Given the description of an element on the screen output the (x, y) to click on. 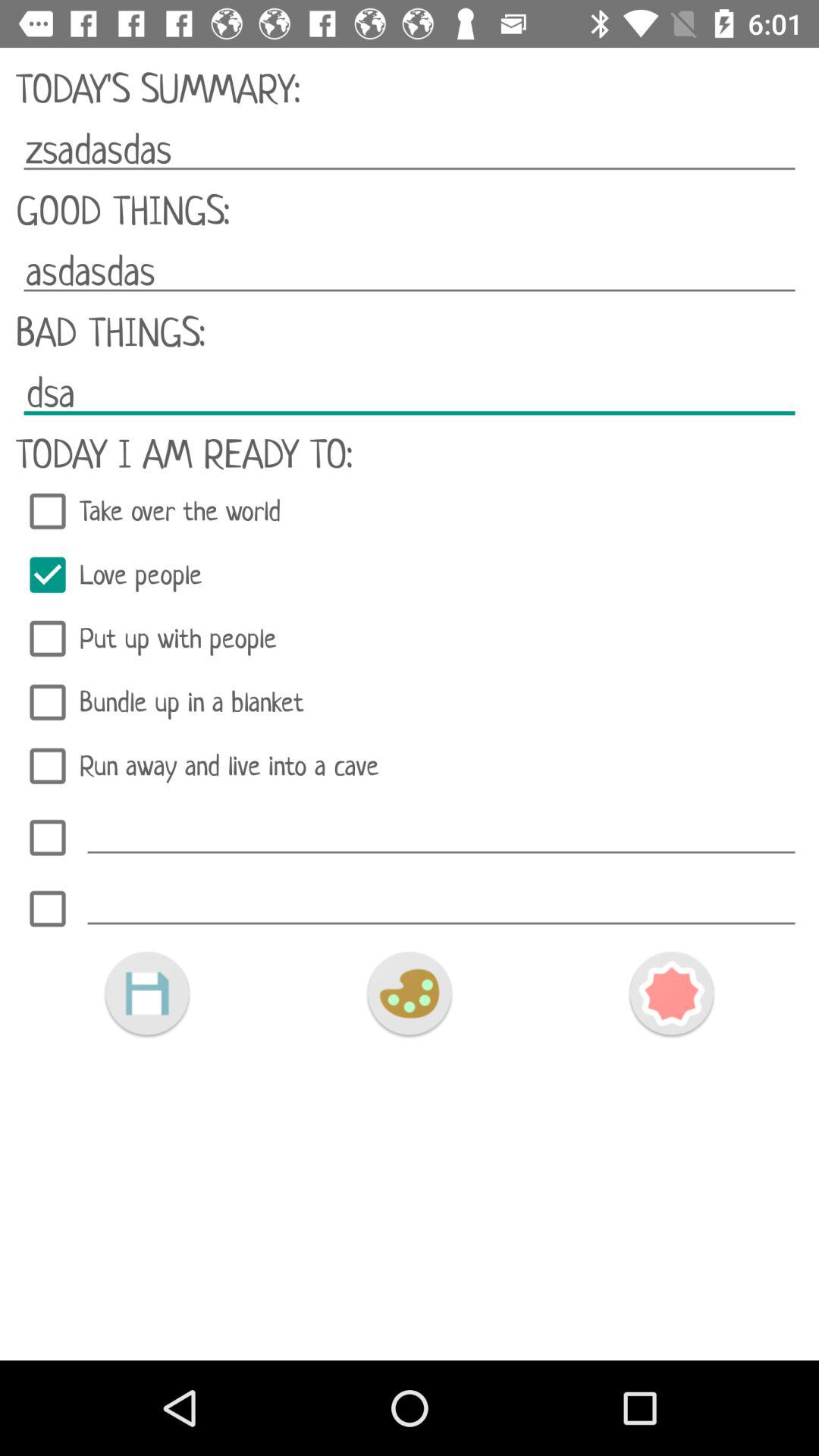
add to list (441, 904)
